Given the description of an element on the screen output the (x, y) to click on. 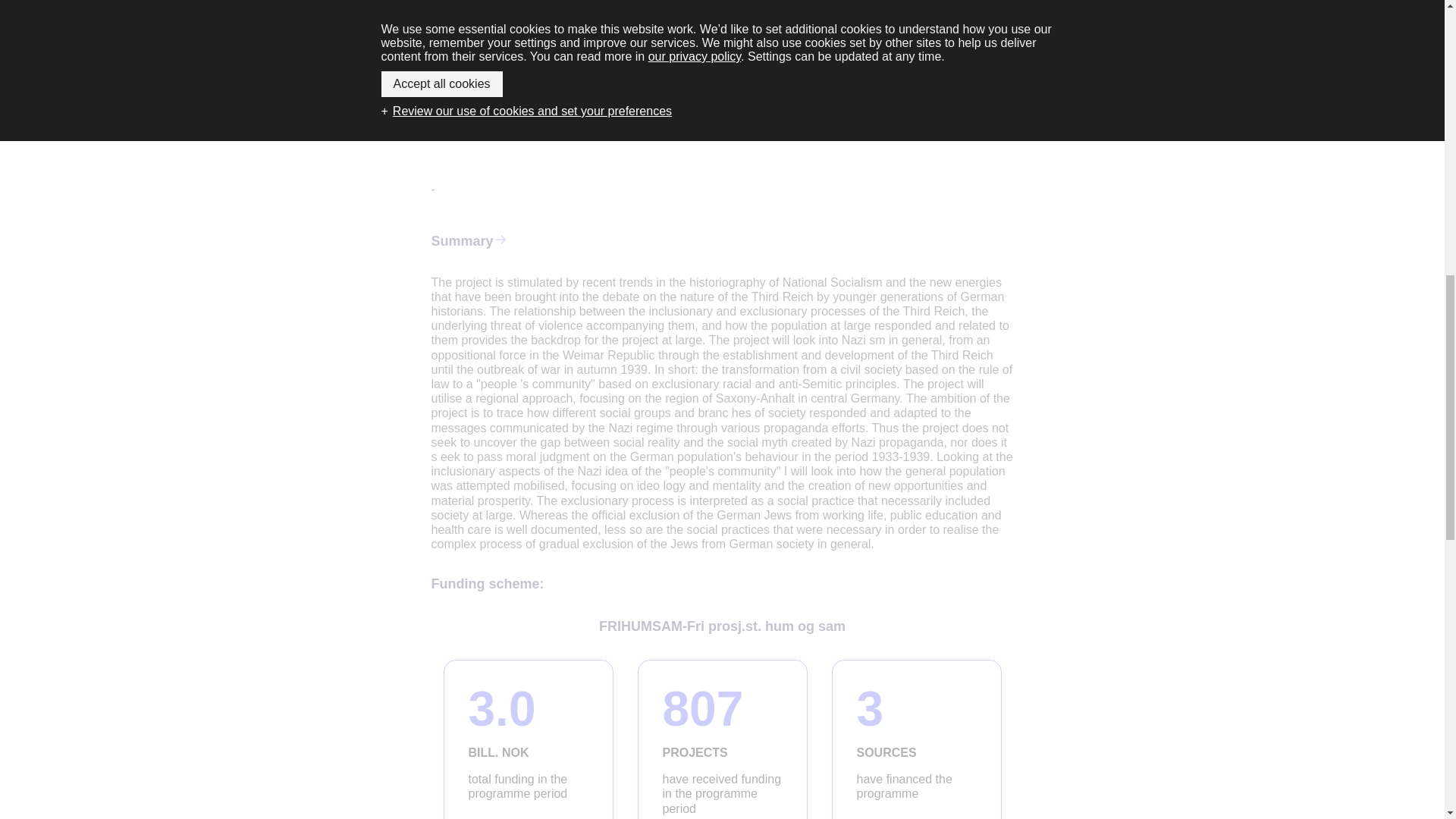
Oslo (640, 4)
Popular Science Description (522, 94)
Oslo (606, 4)
Historie (683, 27)
Historie (721, 739)
Humaniora (734, 27)
Summary (623, 27)
